Given the description of an element on the screen output the (x, y) to click on. 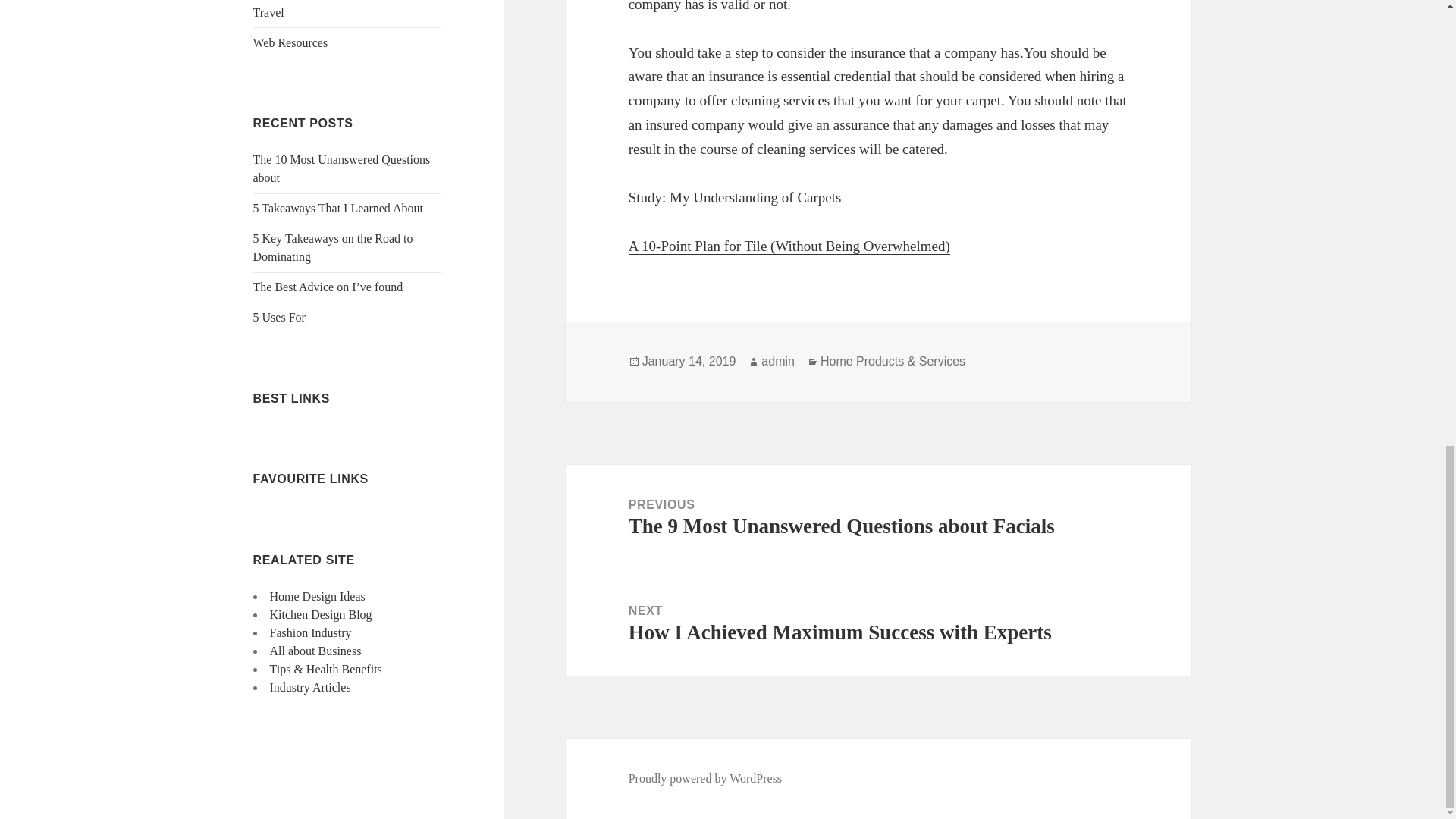
Kitchen Design Blog (320, 614)
Home Design Ideas (317, 595)
All about Business (315, 650)
Industry Articles (309, 686)
5 Takeaways That I Learned About (338, 207)
Fashion Industry (310, 632)
Study: My Understanding of Carpets (734, 197)
Web Resources (291, 42)
Travel (268, 11)
5 Uses For (279, 317)
5 Key Takeaways on the Road to Dominating (333, 246)
The 10 Most Unanswered Questions about (341, 168)
